Given the description of an element on the screen output the (x, y) to click on. 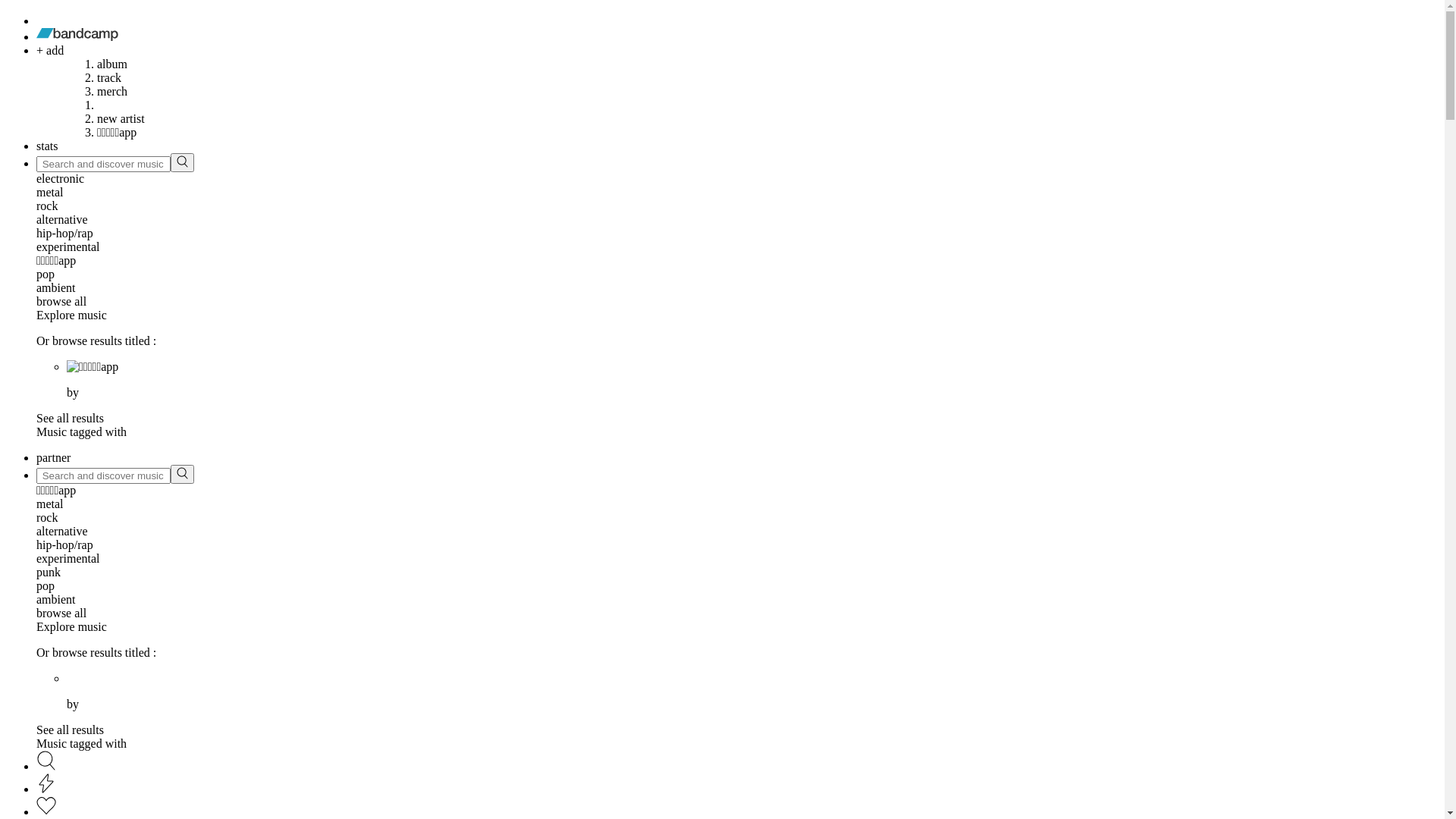
search Element type: hover (182, 473)
search Element type: hover (182, 162)
